Given the description of an element on the screen output the (x, y) to click on. 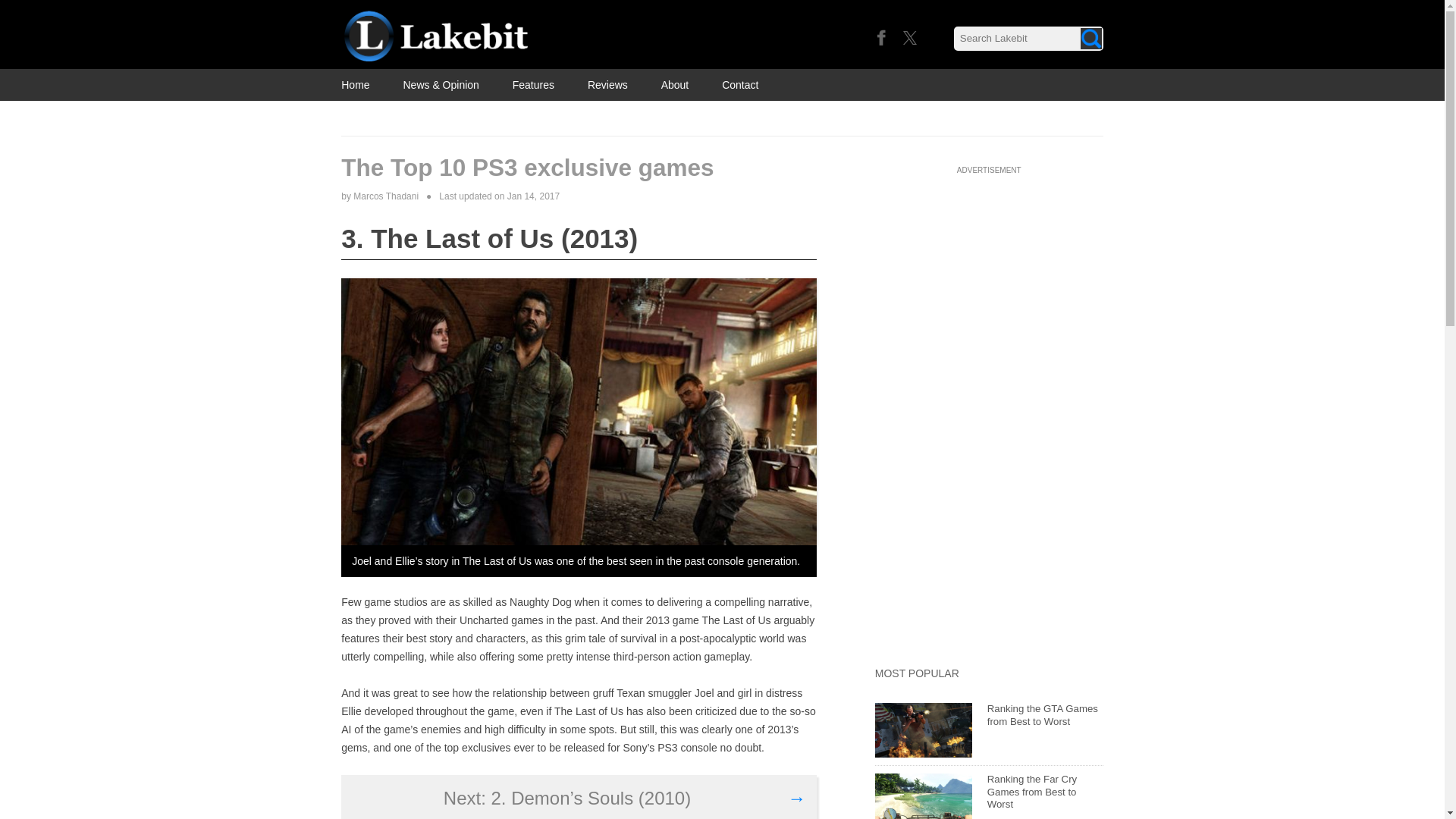
Ranking the GTA Games from Best to Worst (923, 729)
Ranking the Far Cry Games from Best to Worst (1032, 791)
Ranking the Far Cry Games from Best to Worst (1032, 791)
The Top 10 PS3 exclusive games (578, 167)
Search (1091, 38)
Contact (740, 84)
Reviews (607, 84)
Features (533, 84)
Ranking the Far Cry Games from Best to Worst (923, 796)
Marcos Thadani (386, 195)
Ranking the GTA Games from Best to Worst (1042, 714)
Ranking the GTA Games from Best to Worst (1042, 714)
